Given the description of an element on the screen output the (x, y) to click on. 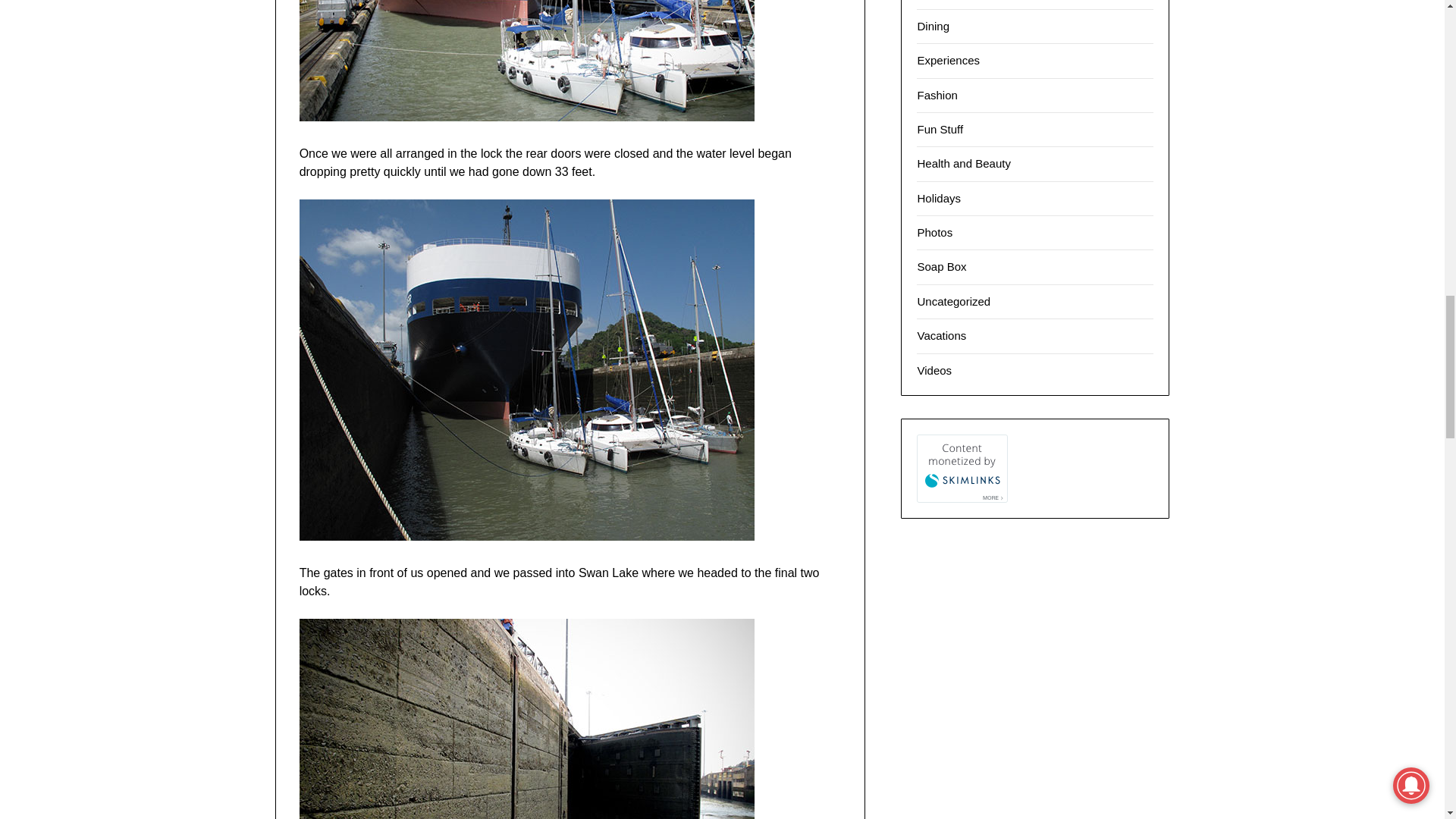
Dining (933, 25)
Fun Stuff (939, 128)
Experiences (948, 60)
Fashion (936, 94)
